Given the description of an element on the screen output the (x, y) to click on. 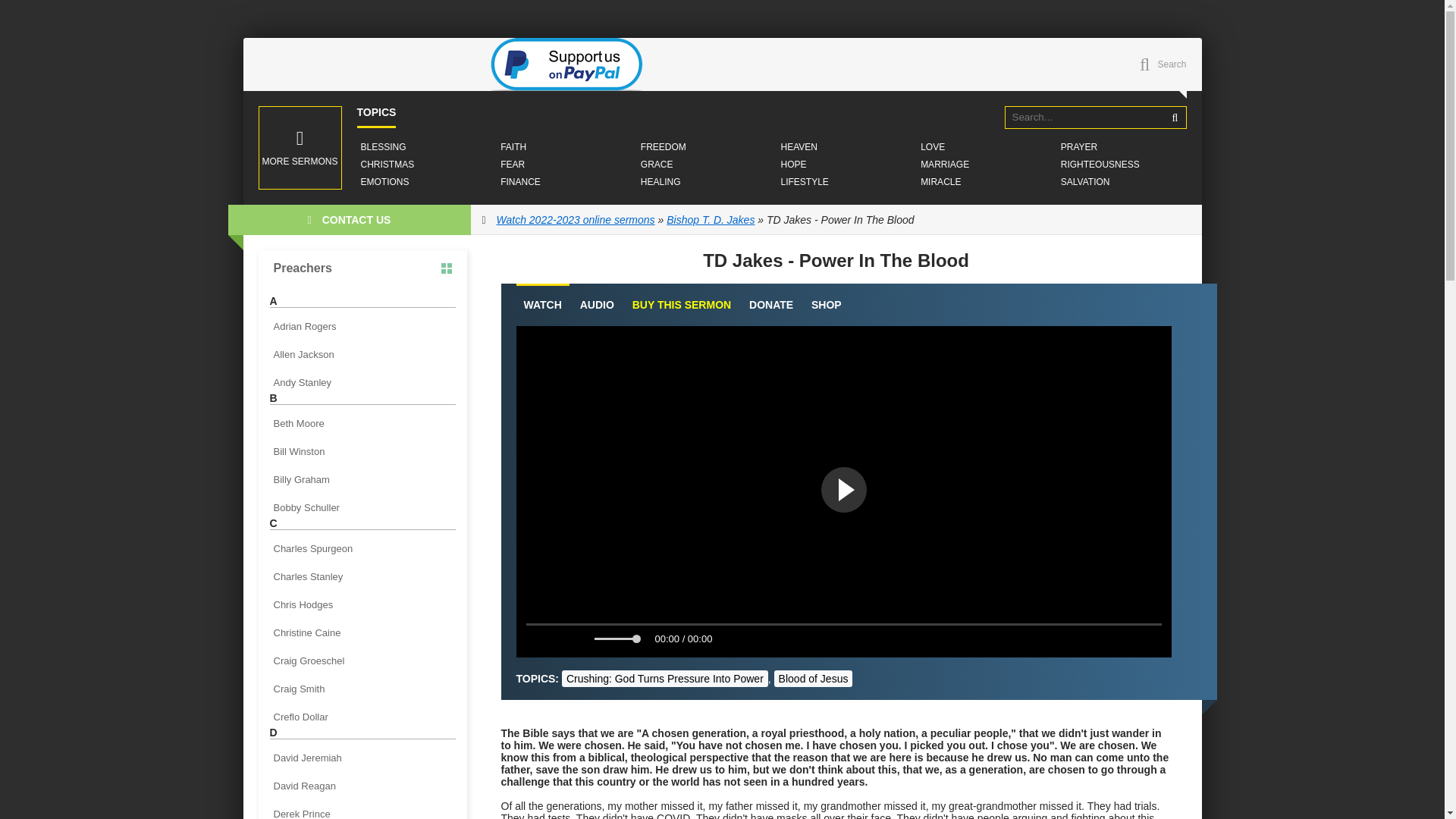
RIGHTEOUSNESS (1099, 164)
Charles Spurgeon (362, 547)
LOVE (933, 146)
Billy Graham (362, 479)
DONATE (771, 304)
Allen Jackson (362, 353)
Blood of Jesus (813, 678)
EMOTIONS (384, 181)
Adrian Rogers (362, 325)
HOPE (792, 164)
